Given the description of an element on the screen output the (x, y) to click on. 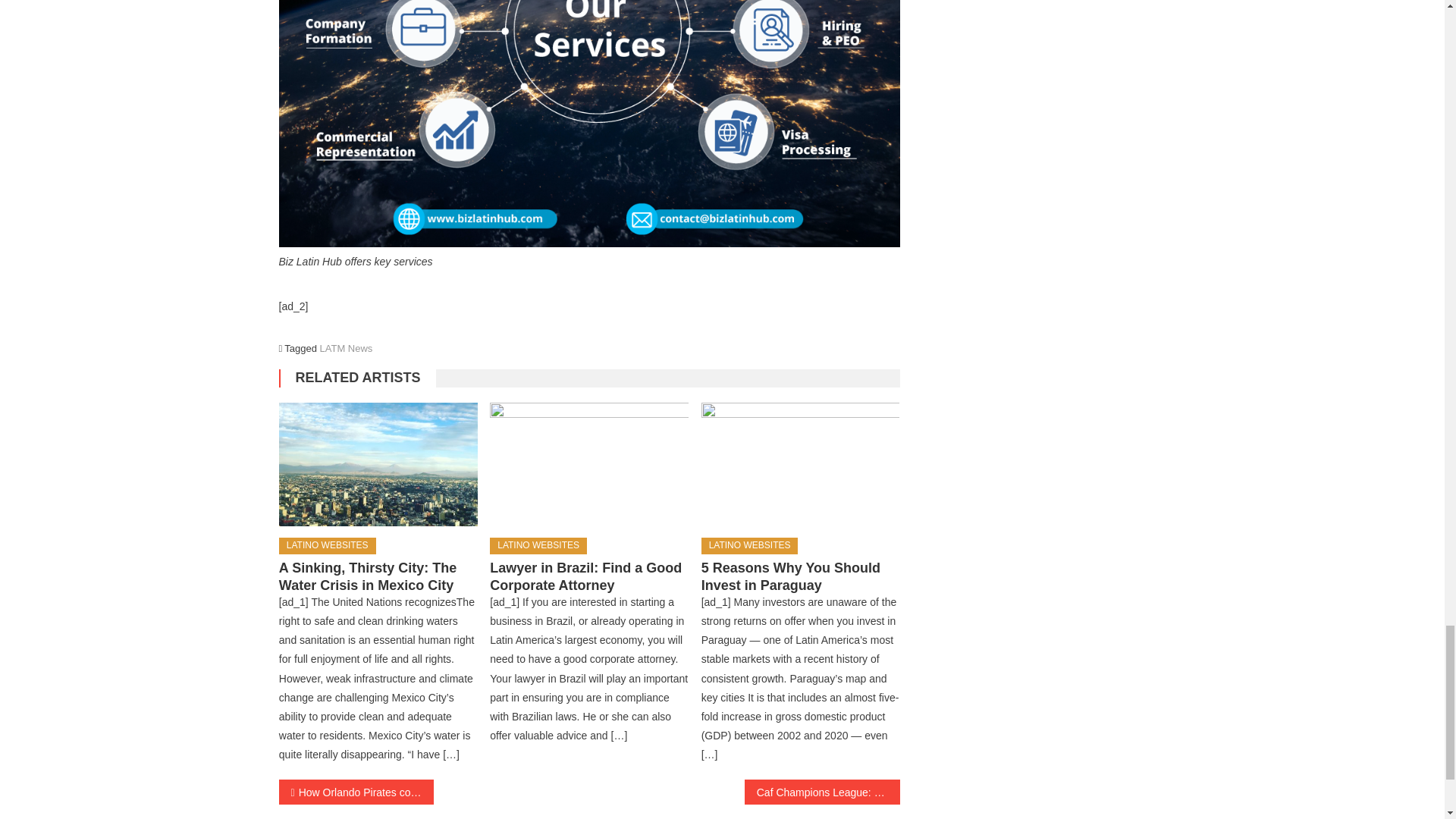
5 Reasons Why You Should Invest in Paraguay (800, 464)
A Sinking, Thirsty City: The Water Crisis in Mexico City (378, 464)
Lawyer in Brazil: Find a Good Corporate Attorney (588, 464)
